Given the description of an element on the screen output the (x, y) to click on. 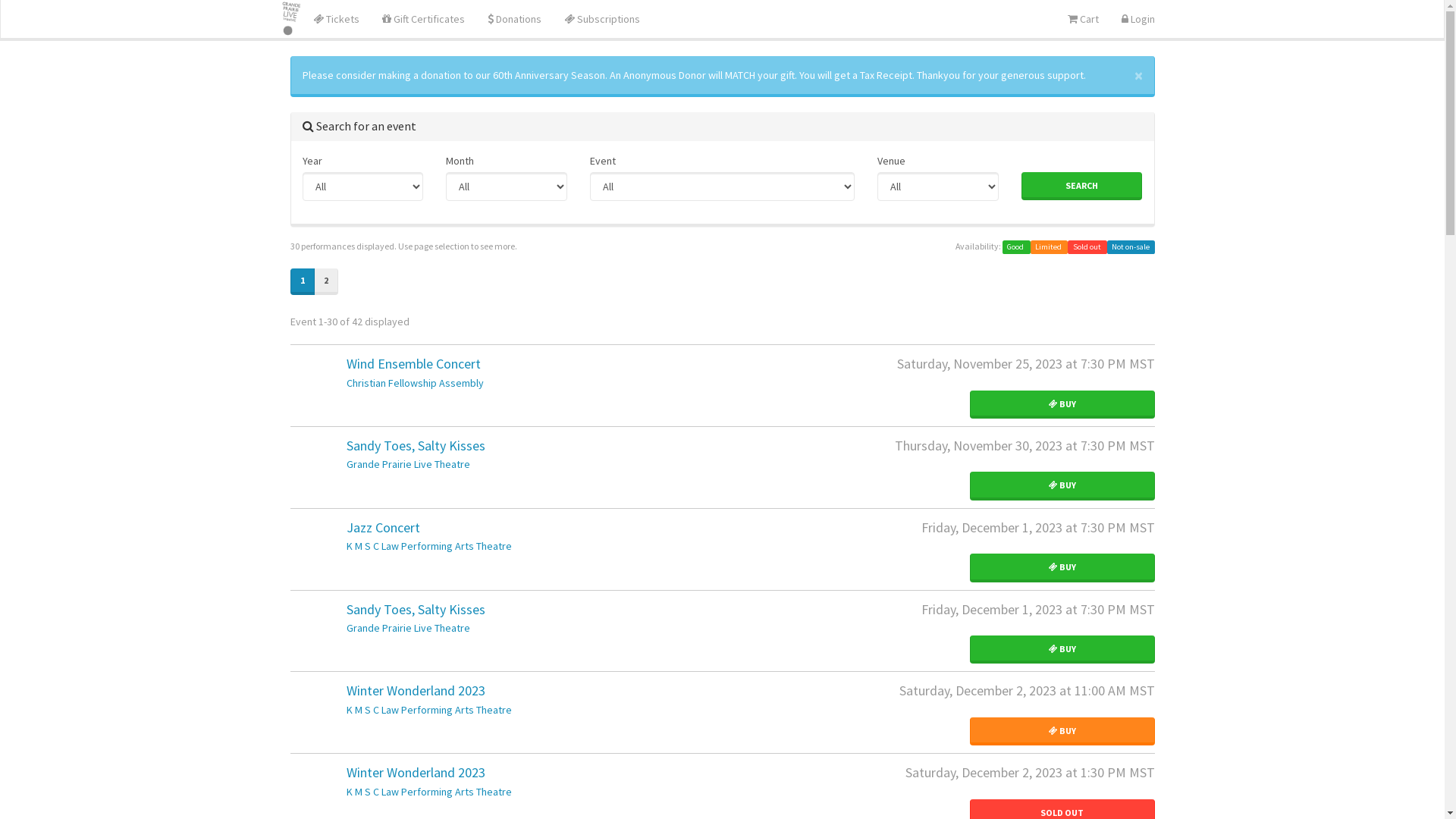
Sandy Toes, Salty Kisses Element type: text (414, 609)
Gift Certificates Element type: text (423, 18)
K M S C Law Performing Arts Theatre Element type: text (428, 545)
Wind Ensemble Concert Element type: text (412, 363)
Winter Wonderland 2023 Element type: text (414, 772)
Login Element type: text (1138, 18)
Subscriptions Element type: text (601, 18)
BUY Element type: text (1061, 731)
K M S C Law Performing Arts Theatre Element type: text (428, 709)
Sandy Toes, Salty Kisses Element type: text (414, 445)
Donations Element type: text (514, 18)
Search for an event Element type: text (358, 125)
Winter Wonderland 2023 Element type: text (414, 690)
BUY Element type: text (1061, 485)
Cart Element type: text (1082, 18)
BUY Element type: text (1061, 567)
Jazz Concert Element type: text (382, 527)
Search Element type: text (1081, 186)
BUY Element type: text (1061, 649)
2 Element type: text (325, 281)
Grande Prairie Live Theatre Element type: text (407, 463)
K M S C Law Performing Arts Theatre Element type: text (428, 791)
Tickets Element type: text (335, 18)
1 Element type: text (301, 281)
Grande Prairie Live Theatre Element type: text (407, 627)
BUY Element type: text (1061, 404)
Christian Fellowship Assembly Element type: text (414, 382)
